Given the description of an element on the screen output the (x, y) to click on. 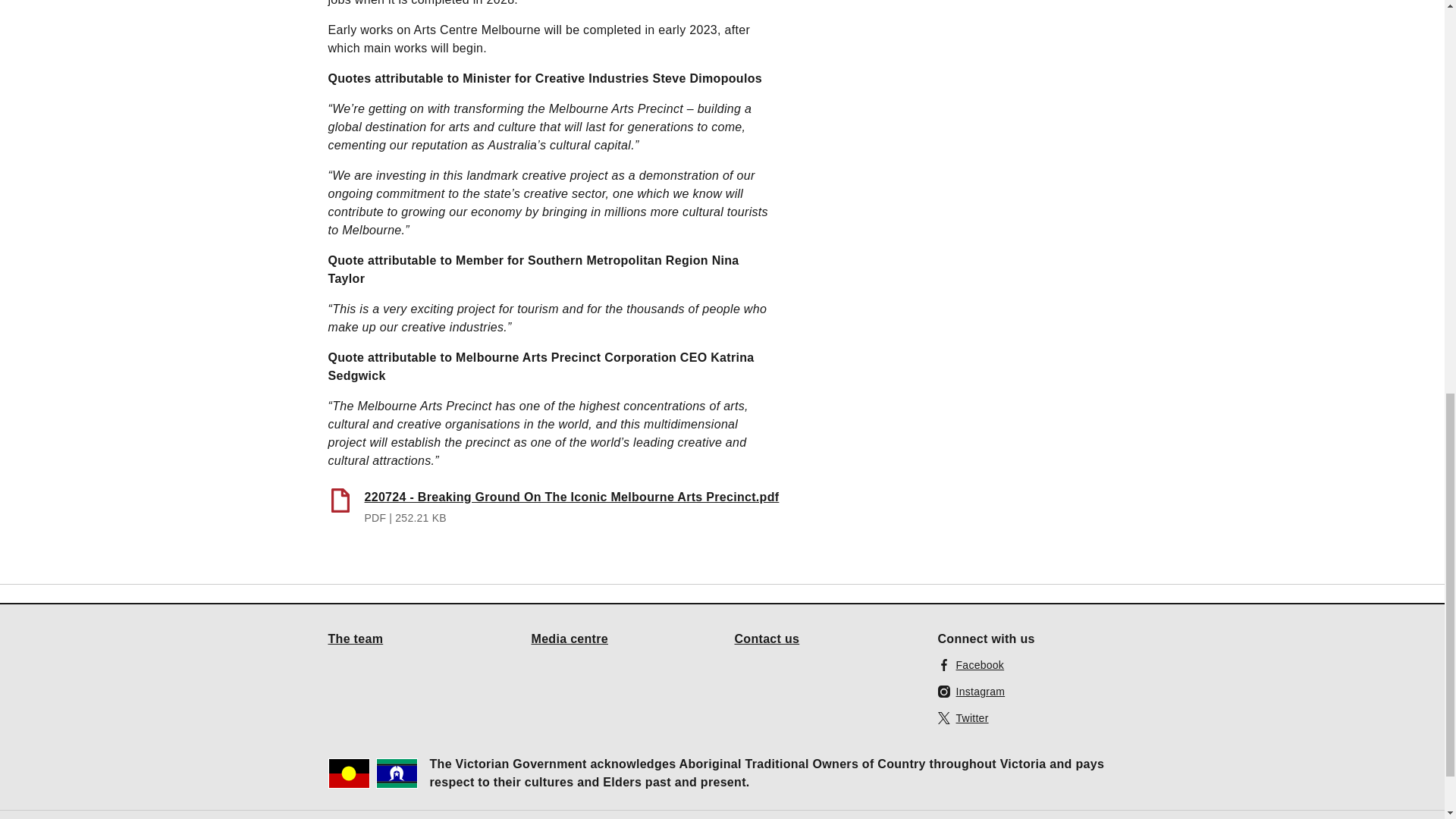
Facebook (970, 663)
Twitter (962, 717)
Media centre (569, 638)
Instagram (970, 691)
The team (354, 638)
Contact us (766, 638)
